Given the description of an element on the screen output the (x, y) to click on. 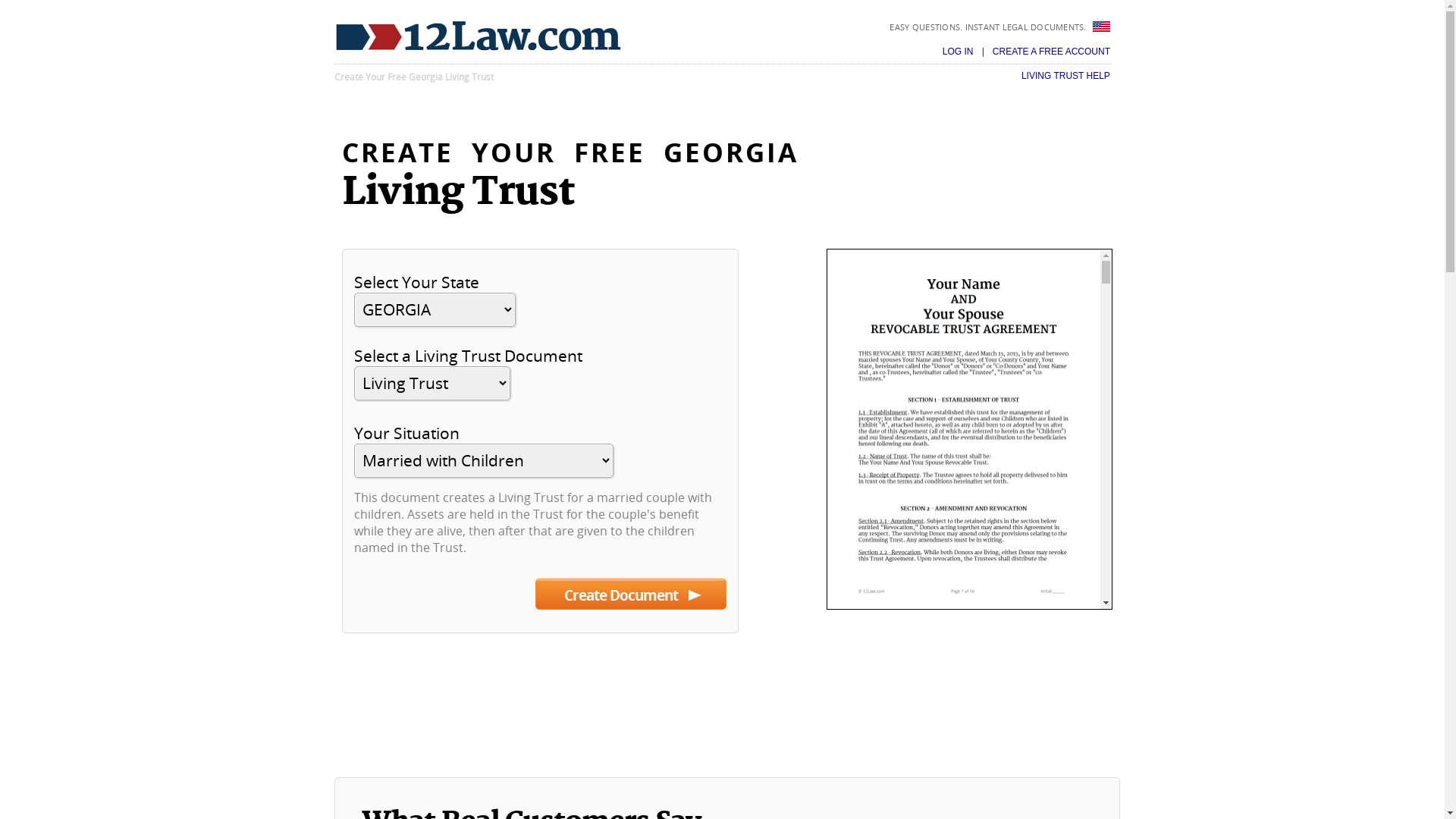
EASY QUESTIONS. INSTANT LEGAL DOCUMENTS.  Element type: text (988, 26)
LOG IN Element type: text (958, 51)
12Law.com - Easy Questions, Instant Legal Documents Element type: hover (477, 36)
CREATE A FREE ACCOUNT Element type: text (1051, 51)
 Create Document  Element type: text (630, 593)
LIVING TRUST HELP Element type: text (1065, 75)
